Given the description of an element on the screen output the (x, y) to click on. 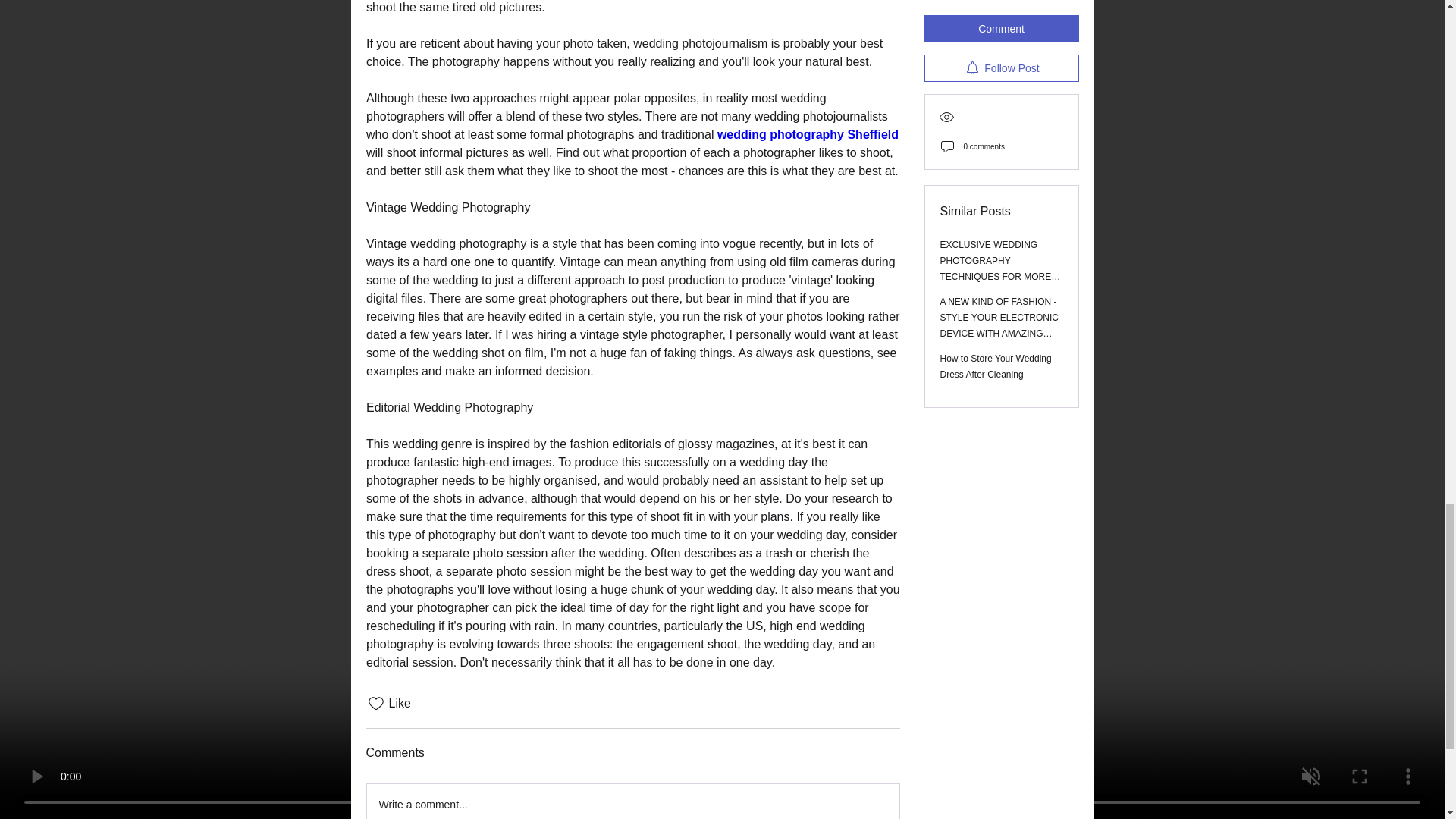
Write a comment... (632, 801)
wedding photography Sheffield (807, 133)
